Given the description of an element on the screen output the (x, y) to click on. 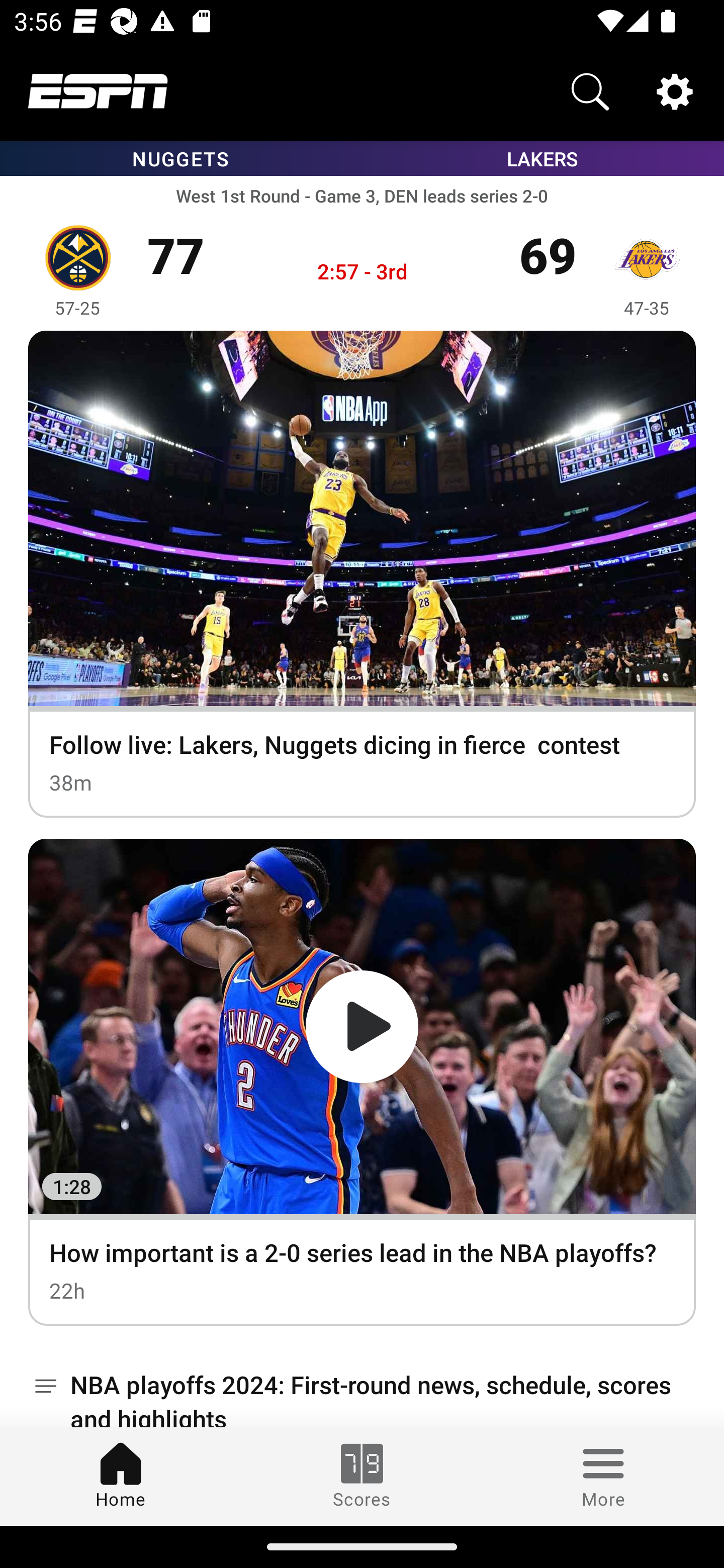
Search (590, 90)
Settings (674, 90)
Scores (361, 1475)
More (603, 1475)
